Given the description of an element on the screen output the (x, y) to click on. 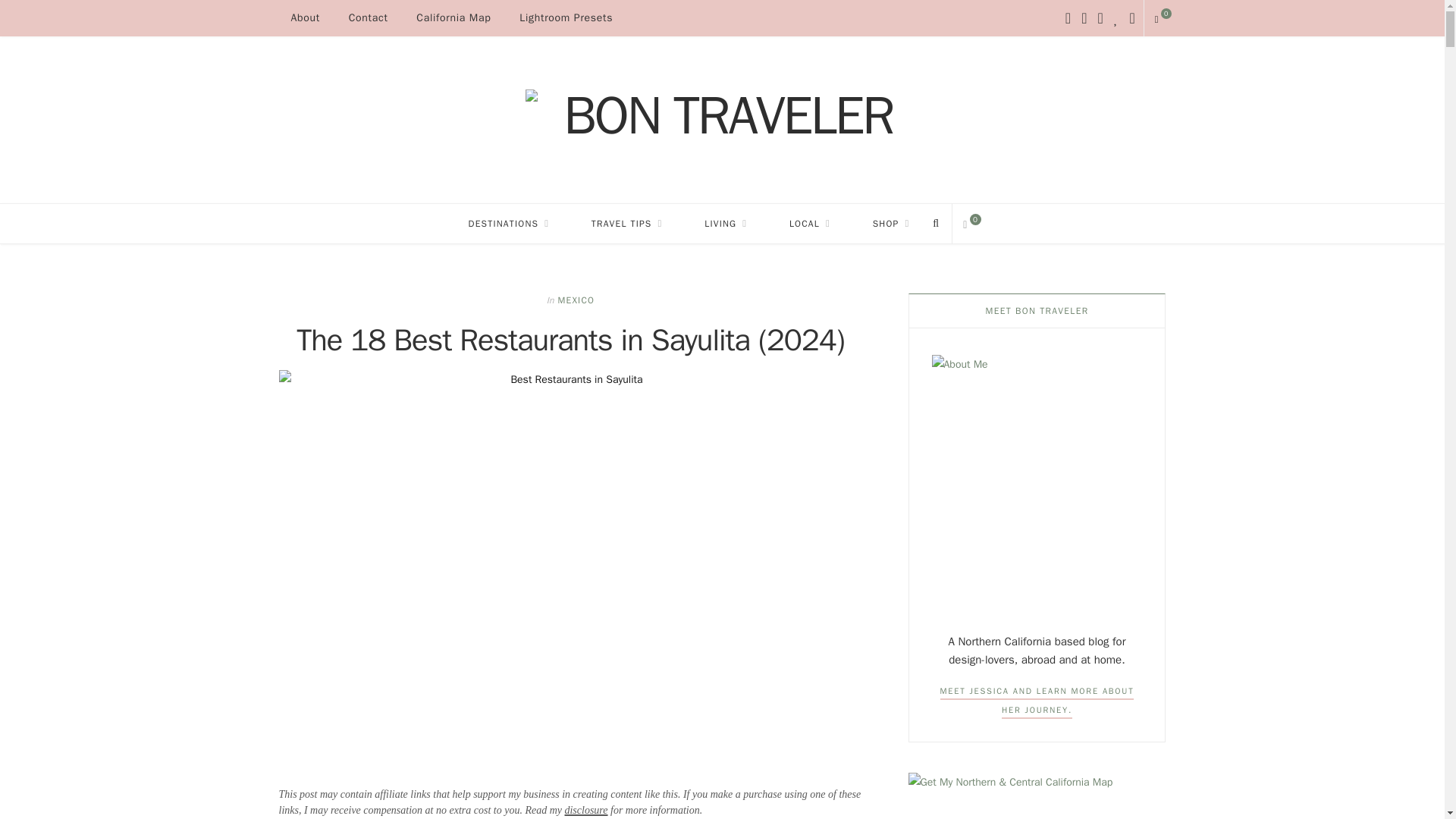
About (305, 18)
Contact (368, 18)
Lightroom Presets (565, 18)
DESTINATIONS (509, 223)
California Map (453, 18)
Bon Traveler (721, 119)
